Given the description of an element on the screen output the (x, y) to click on. 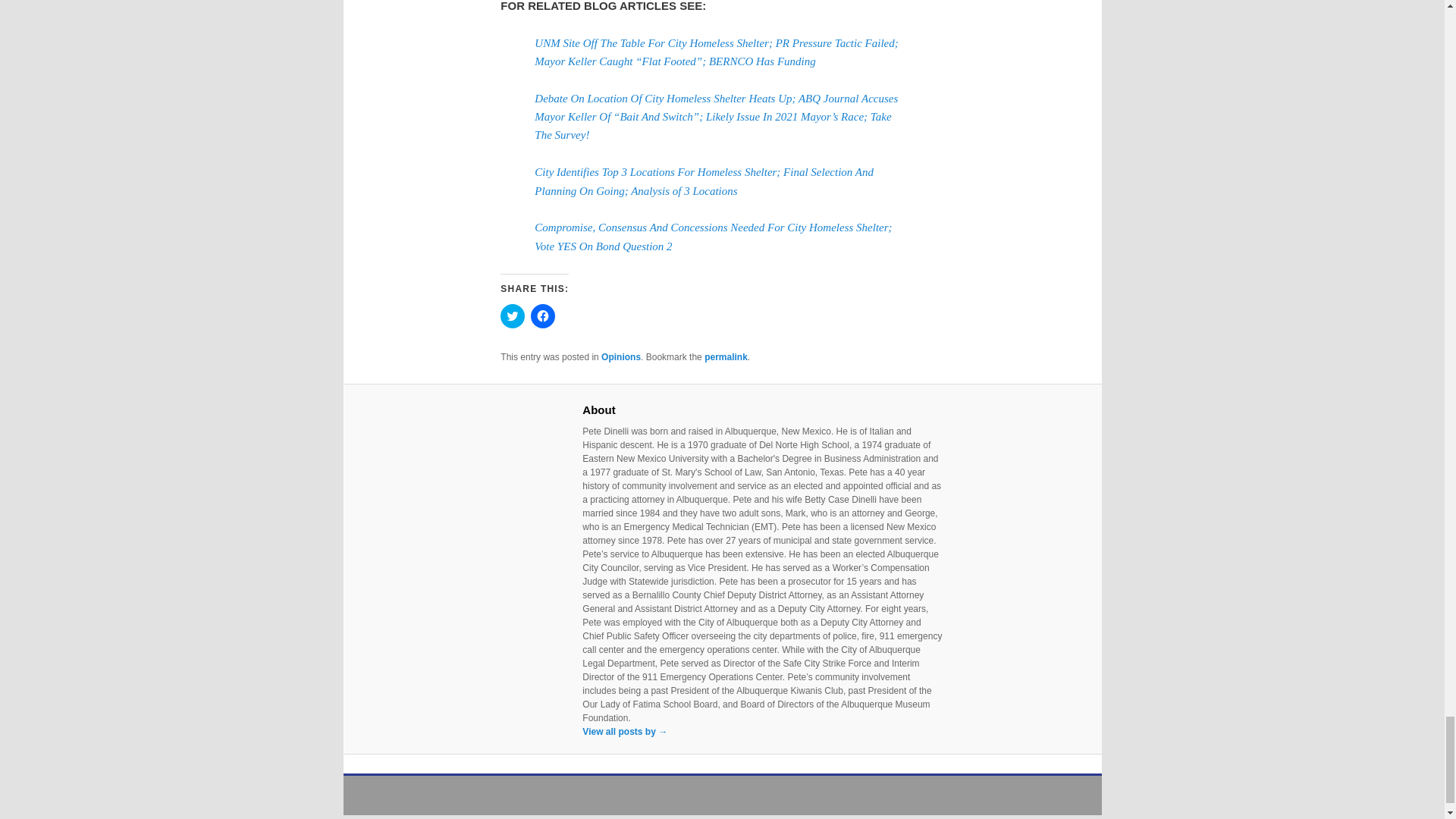
Click to share on Twitter (512, 315)
Click to share on Facebook (542, 315)
Opinions (620, 357)
permalink (726, 357)
